Given the description of an element on the screen output the (x, y) to click on. 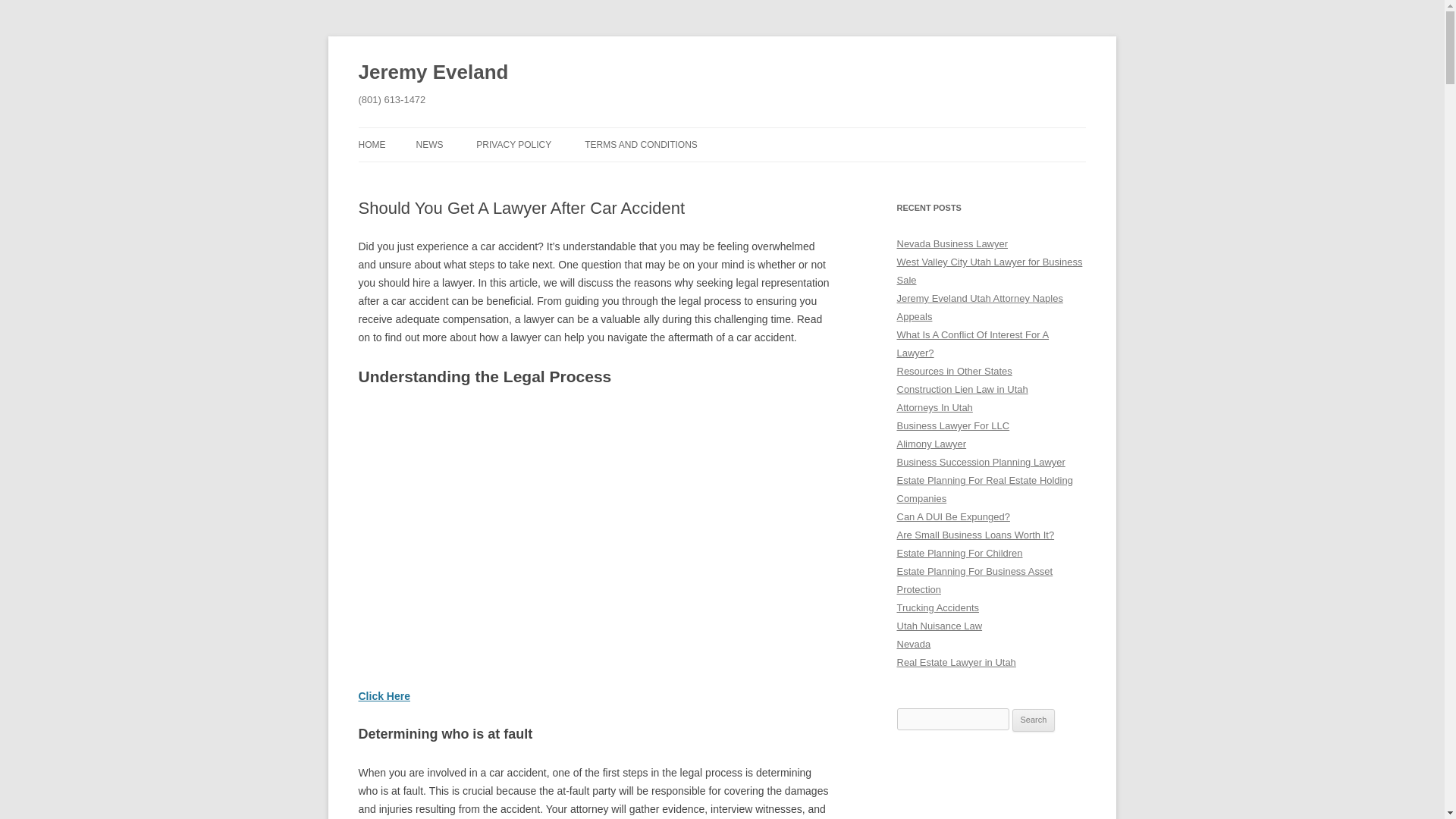
TERMS AND CONDITIONS (641, 144)
Utah Nuisance Law (938, 625)
West Valley City Utah Lawyer for Business Sale (988, 270)
Construction Lien Law in Utah (961, 389)
Nevada Business Lawyer (951, 243)
Are Small Business Loans Worth It? (975, 534)
Real Estate Lawyer in Utah (955, 662)
Alimony Lawyer (931, 443)
Attorneys In Utah (934, 407)
Jeremy Eveland Utah Attorney Naples (979, 297)
